Given the description of an element on the screen output the (x, y) to click on. 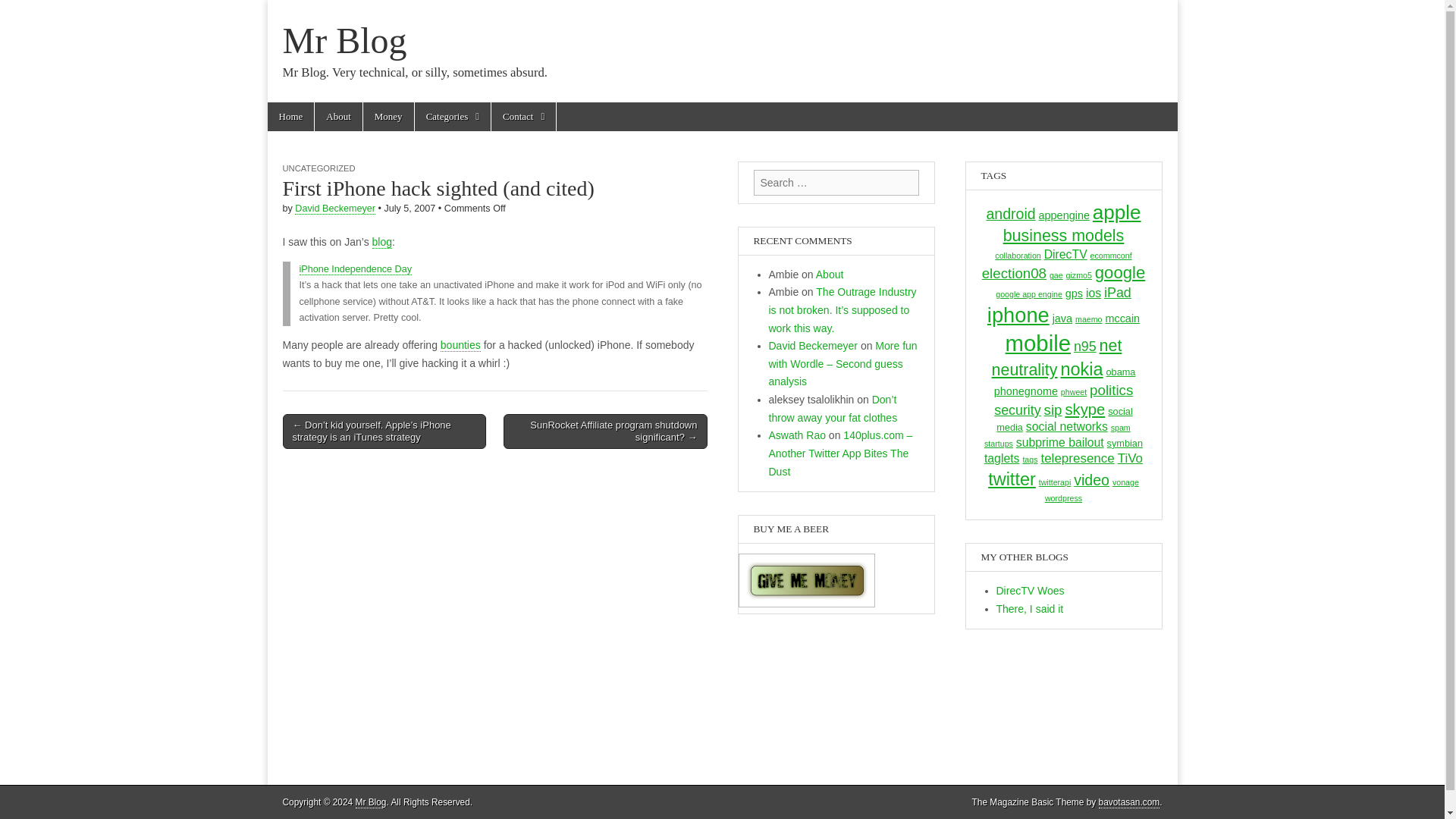
Posts by David Beckemeyer (335, 208)
iPhone Independence Day (354, 269)
Mr Blog (344, 40)
David Beckemeyer (335, 208)
Home (290, 116)
About (338, 116)
Contact (524, 116)
UNCATEGORIZED (318, 167)
Mr Blog (344, 40)
bounties (460, 345)
